Given the description of an element on the screen output the (x, y) to click on. 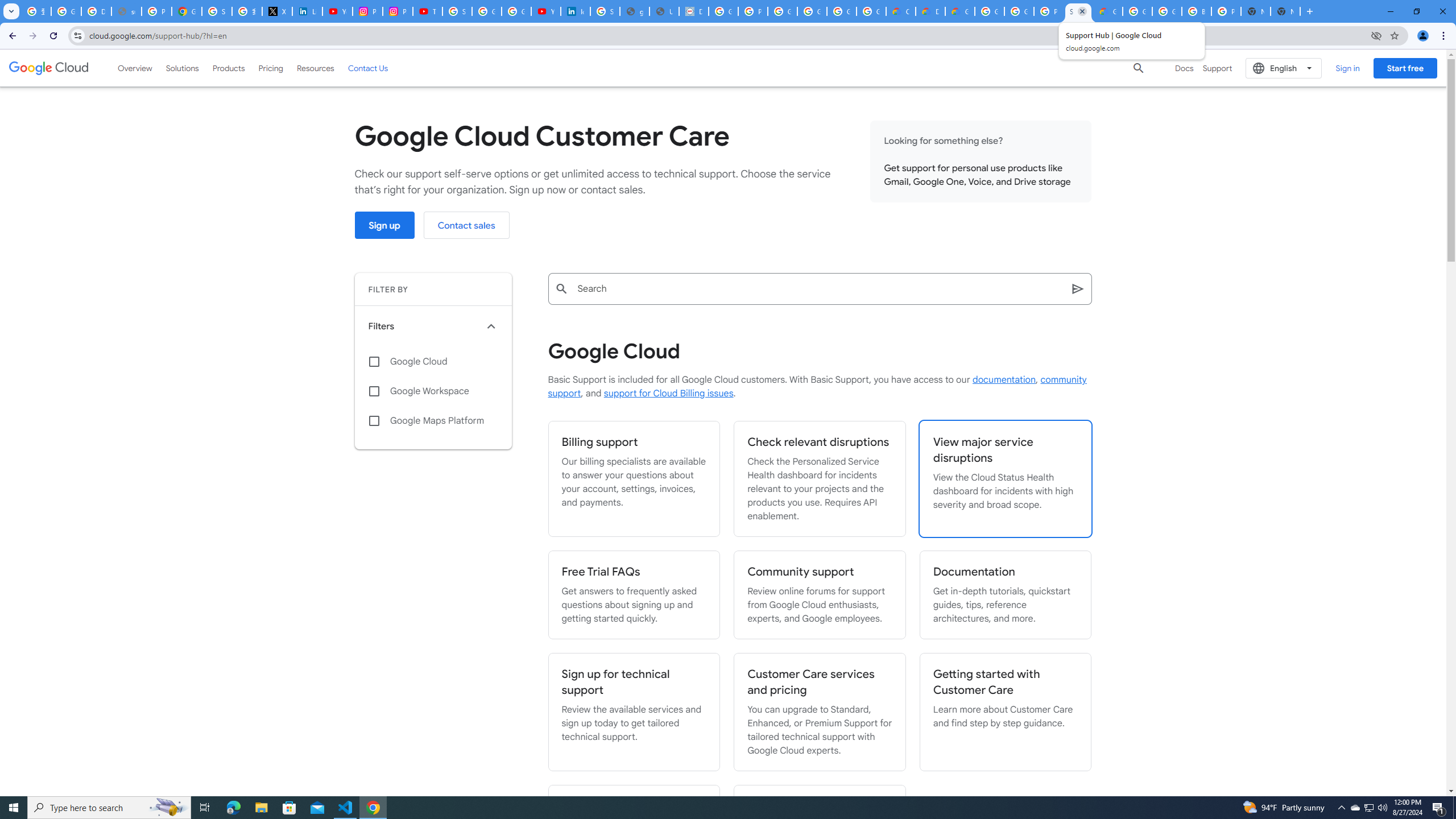
Google Cloud Platform (1018, 11)
support for Cloud Billing issues (667, 393)
Google Cloud Service Health (1107, 11)
New Tab (1284, 11)
Contact sales (466, 225)
